Given the description of an element on the screen output the (x, y) to click on. 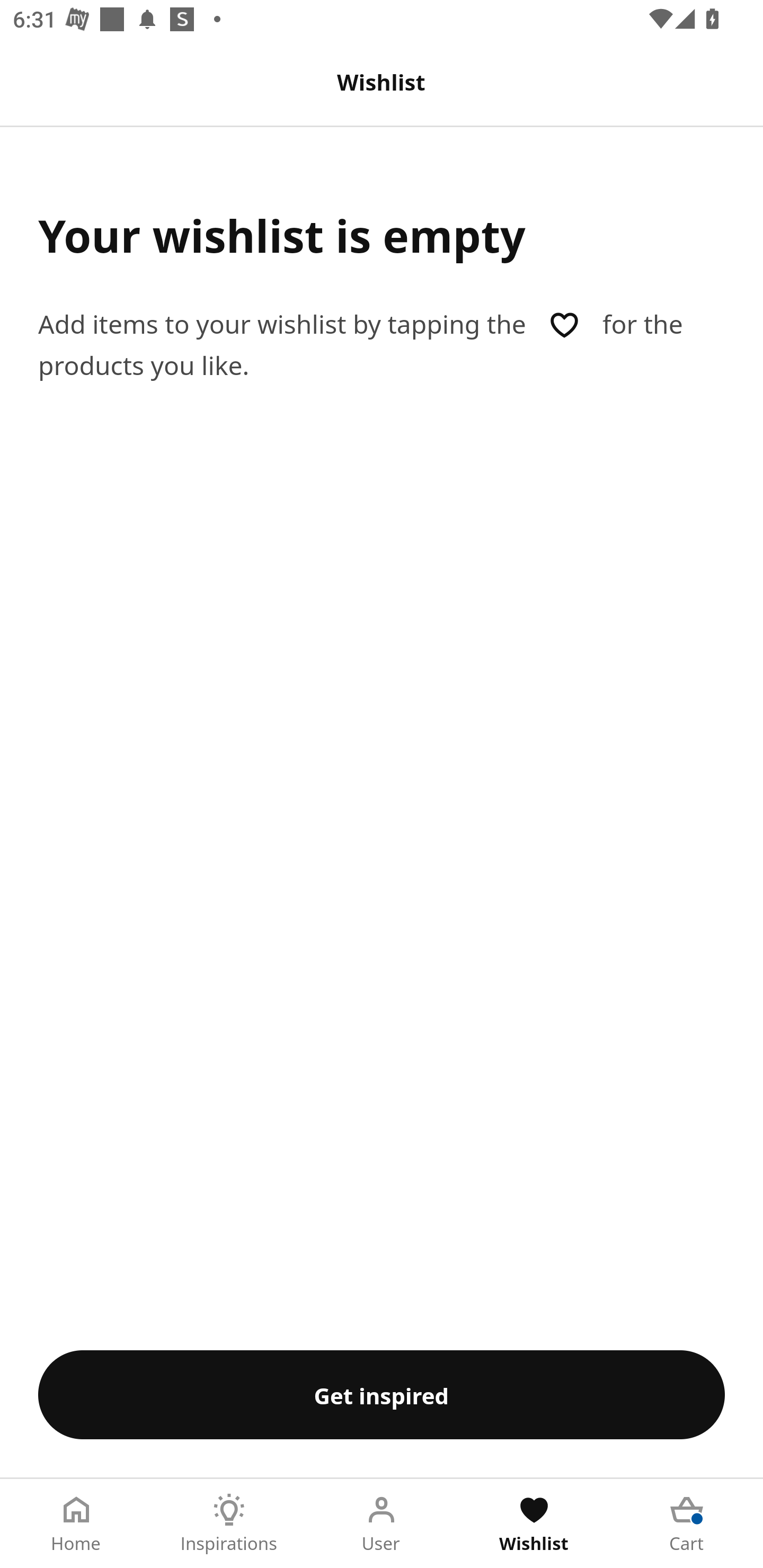
Get inspired (381, 1394)
Home
Tab 1 of 5 (76, 1522)
Inspirations
Tab 2 of 5 (228, 1522)
User
Tab 3 of 5 (381, 1522)
Wishlist
Tab 4 of 5 (533, 1522)
Cart
Tab 5 of 5 (686, 1522)
